Given the description of an element on the screen output the (x, y) to click on. 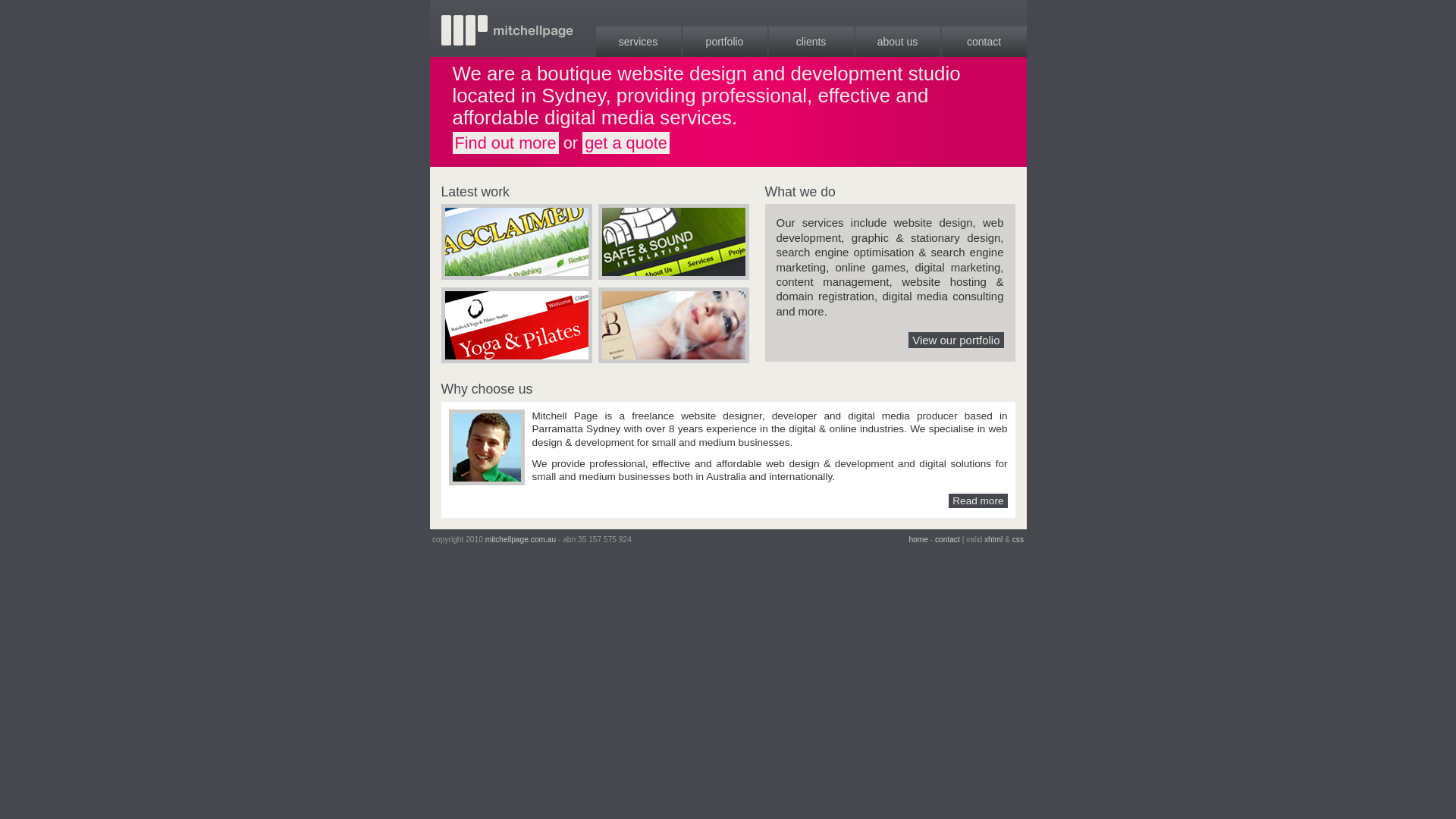
mitchellpage.com.au Element type: text (520, 539)
get a quote Element type: text (625, 142)
Read more Element type: text (977, 500)
contact Element type: text (983, 41)
View our portfolio Element type: text (955, 340)
about us Element type: text (897, 41)
Find out more Element type: text (504, 142)
contact Element type: text (947, 539)
css Element type: text (1017, 539)
xhtml Element type: text (993, 539)
services Element type: text (638, 41)
home Element type: text (917, 539)
portfolio Element type: text (724, 41)
clients Element type: text (810, 41)
